Given the description of an element on the screen output the (x, y) to click on. 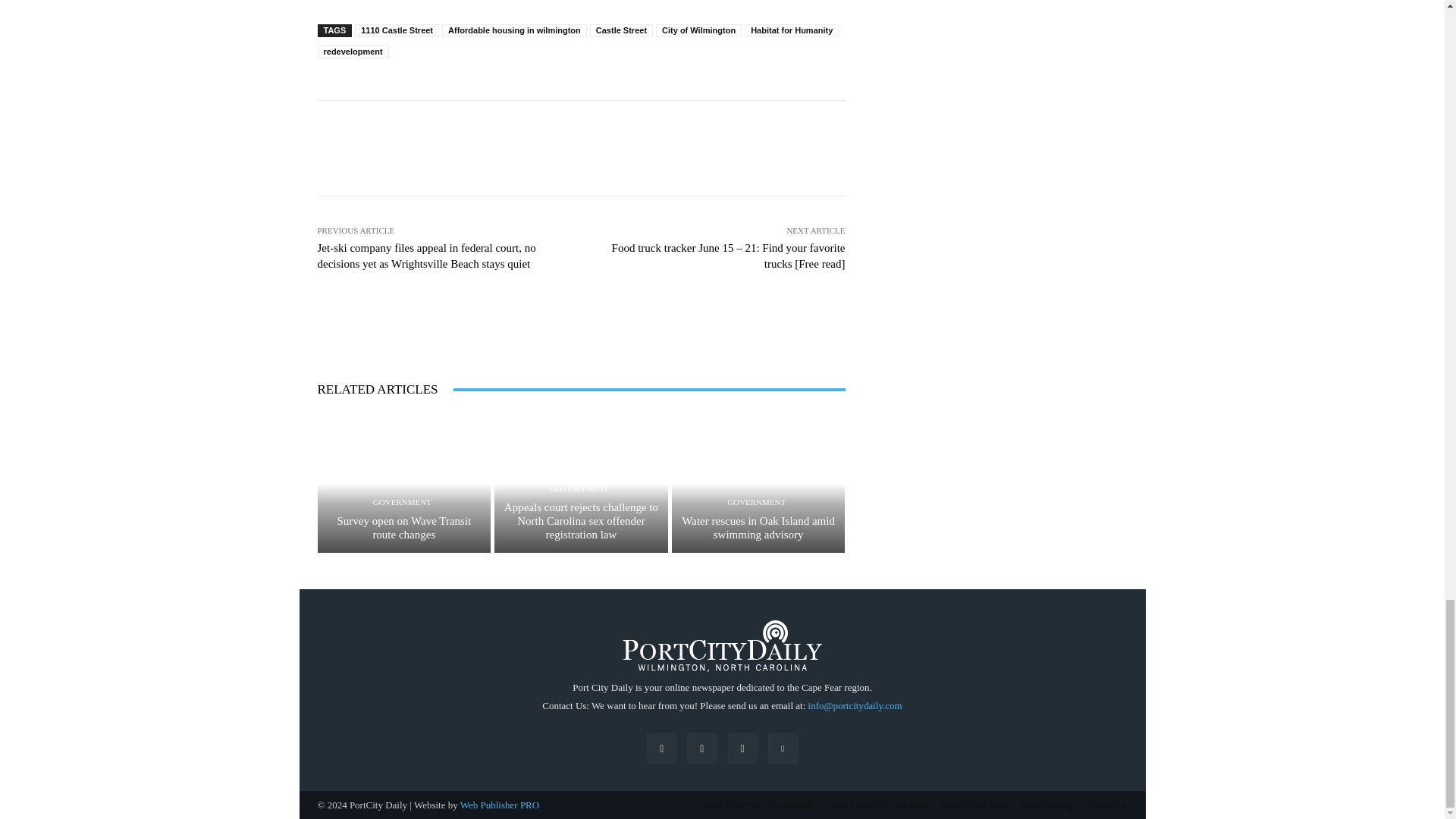
Survey open on Wave Transit route changes (403, 527)
Survey open on Wave Transit route changes (403, 483)
